Given the description of an element on the screen output the (x, y) to click on. 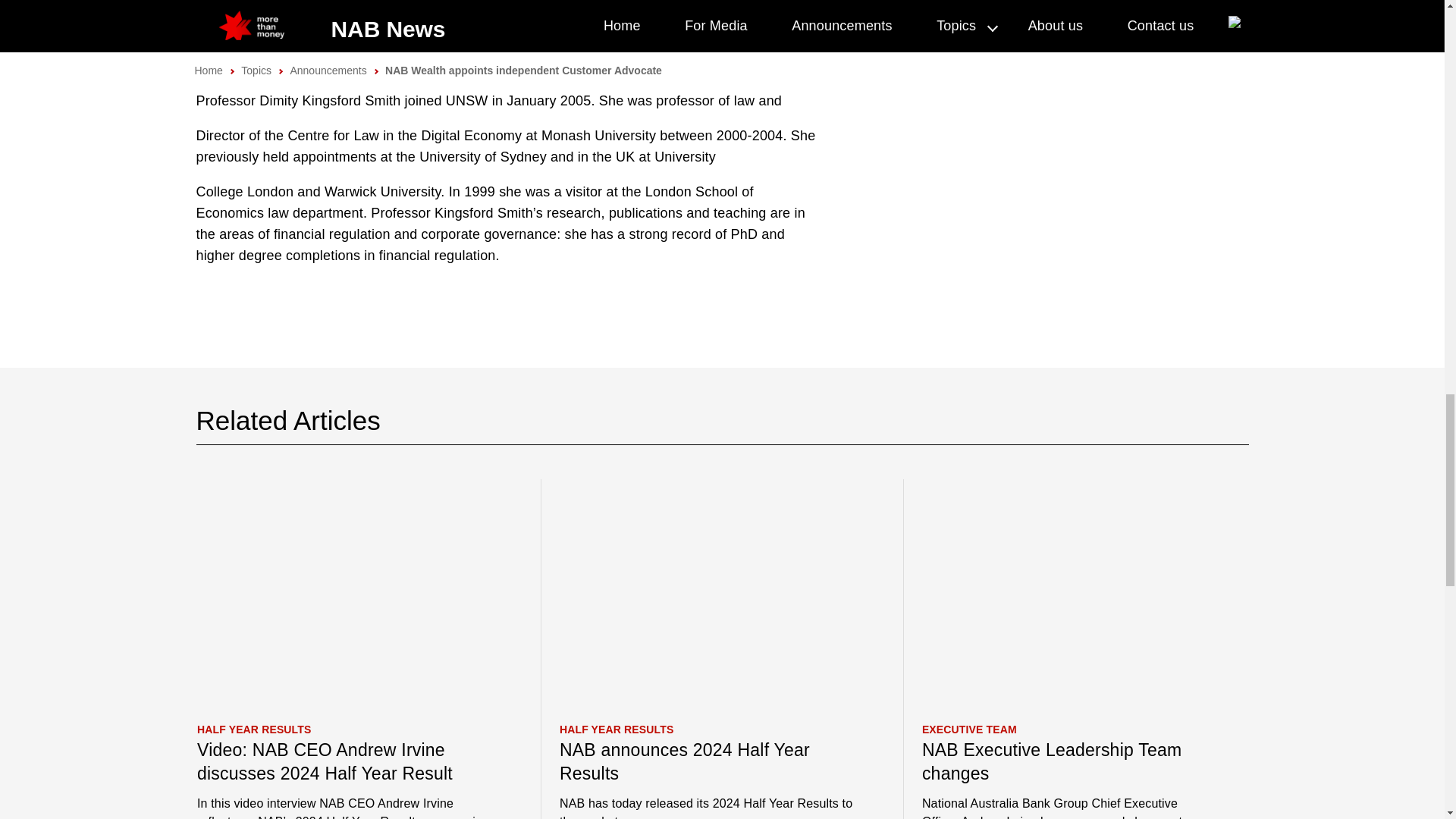
Video: NAB CEO Andrew Irvine discusses 2024 Half Year Result (343, 761)
NAB announces 2024 Half Year Results (706, 761)
NAB Executive Leadership Team changes (1068, 761)
